Given the description of an element on the screen output the (x, y) to click on. 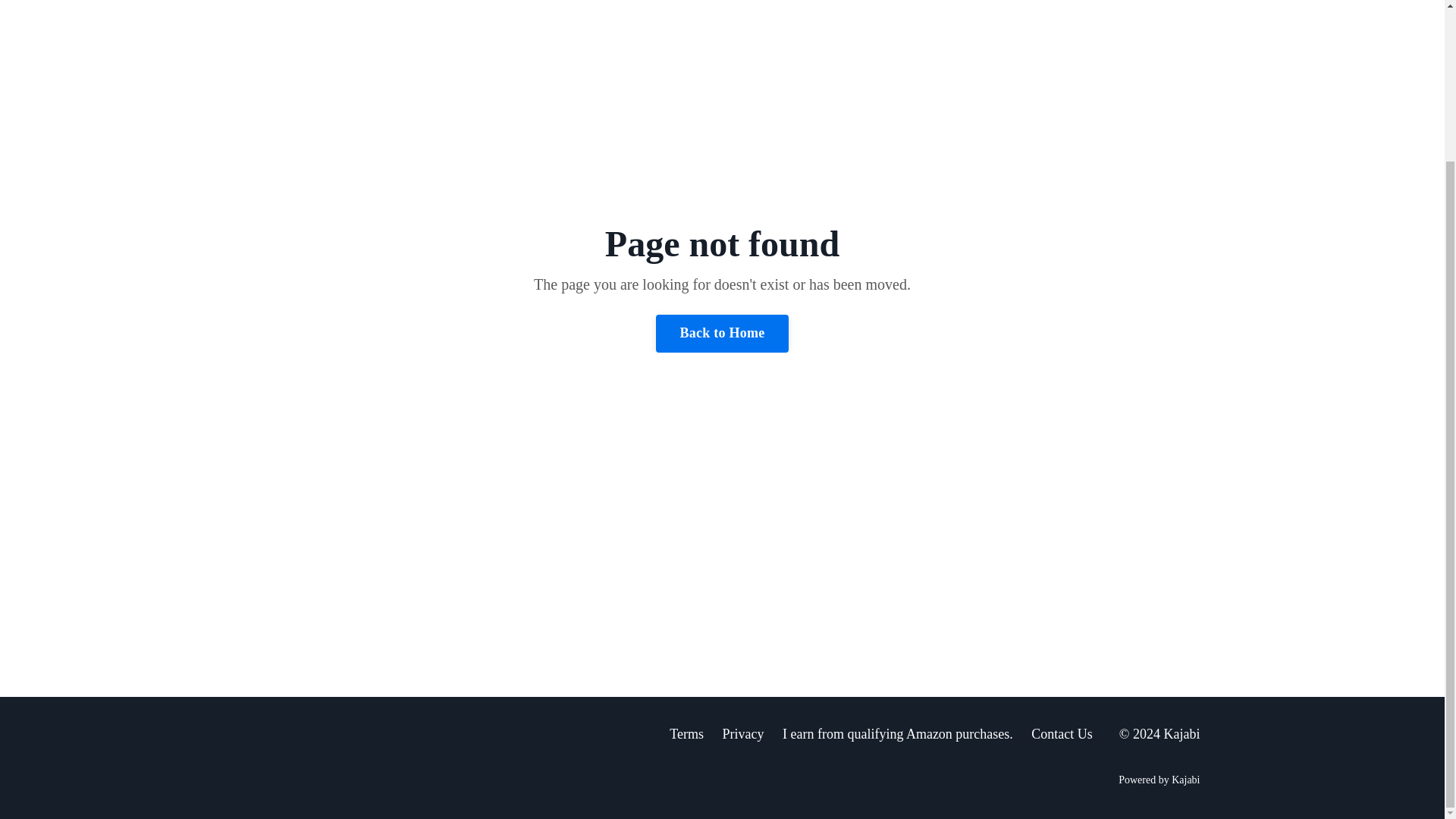
Contact Us (1061, 734)
Privacy (742, 734)
I earn from qualifying Amazon purchases. (898, 734)
Powered by Kajabi (1158, 779)
Terms (686, 734)
Back to Home (722, 333)
